Given the description of an element on the screen output the (x, y) to click on. 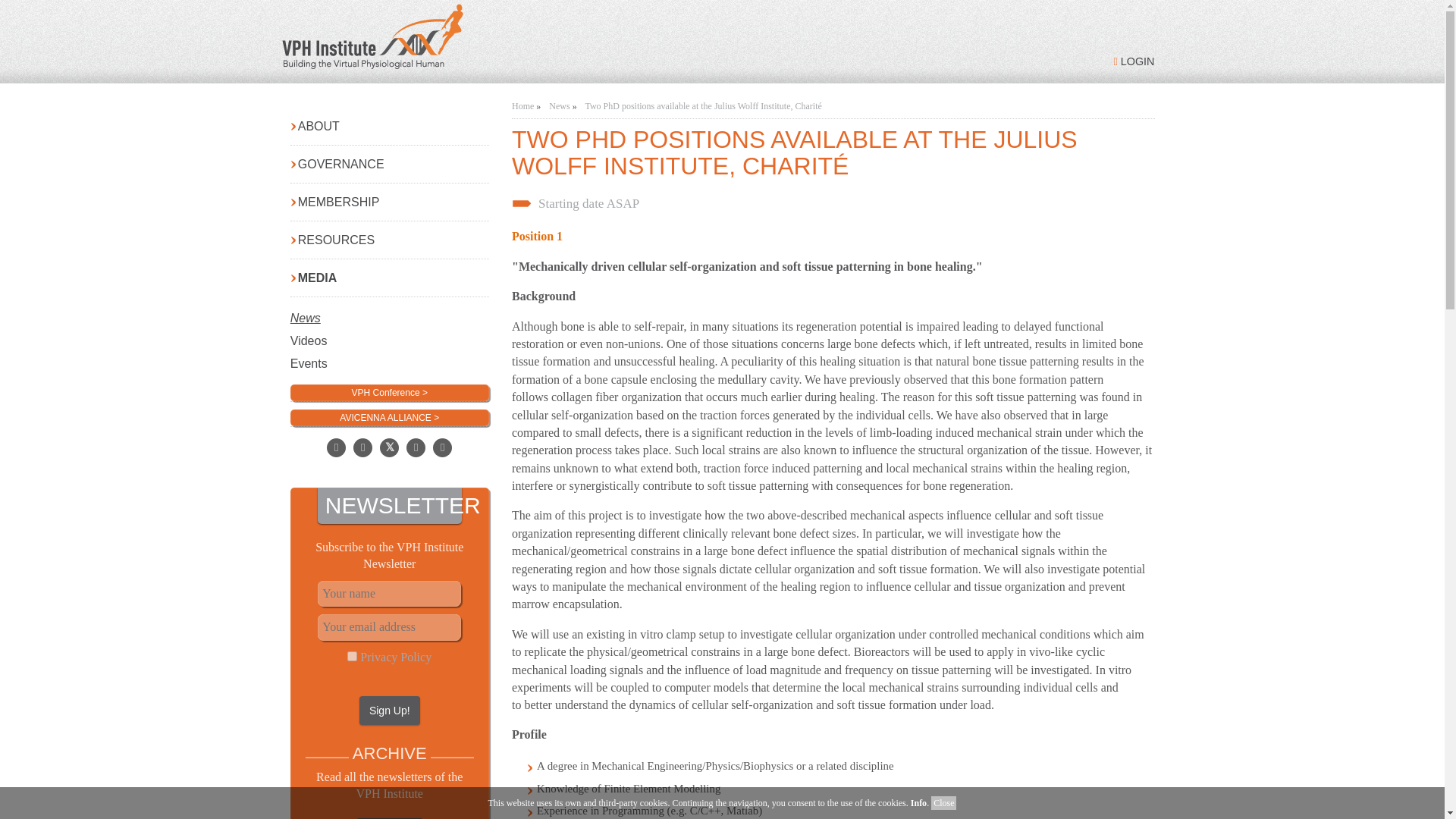
News (389, 308)
Sign Up! (389, 710)
Accept Privacy Policy (351, 655)
Videos of VPH Institute (389, 331)
Home (523, 105)
News (558, 105)
VPH Istitute (495, 38)
RESOURCES (389, 240)
AVICENNA ALLIANCE (389, 415)
Videos (389, 331)
vph-conference (389, 391)
MEDIA (389, 278)
Sign Up! (389, 710)
MEMBERSHIP (389, 202)
Events (389, 354)
